Given the description of an element on the screen output the (x, y) to click on. 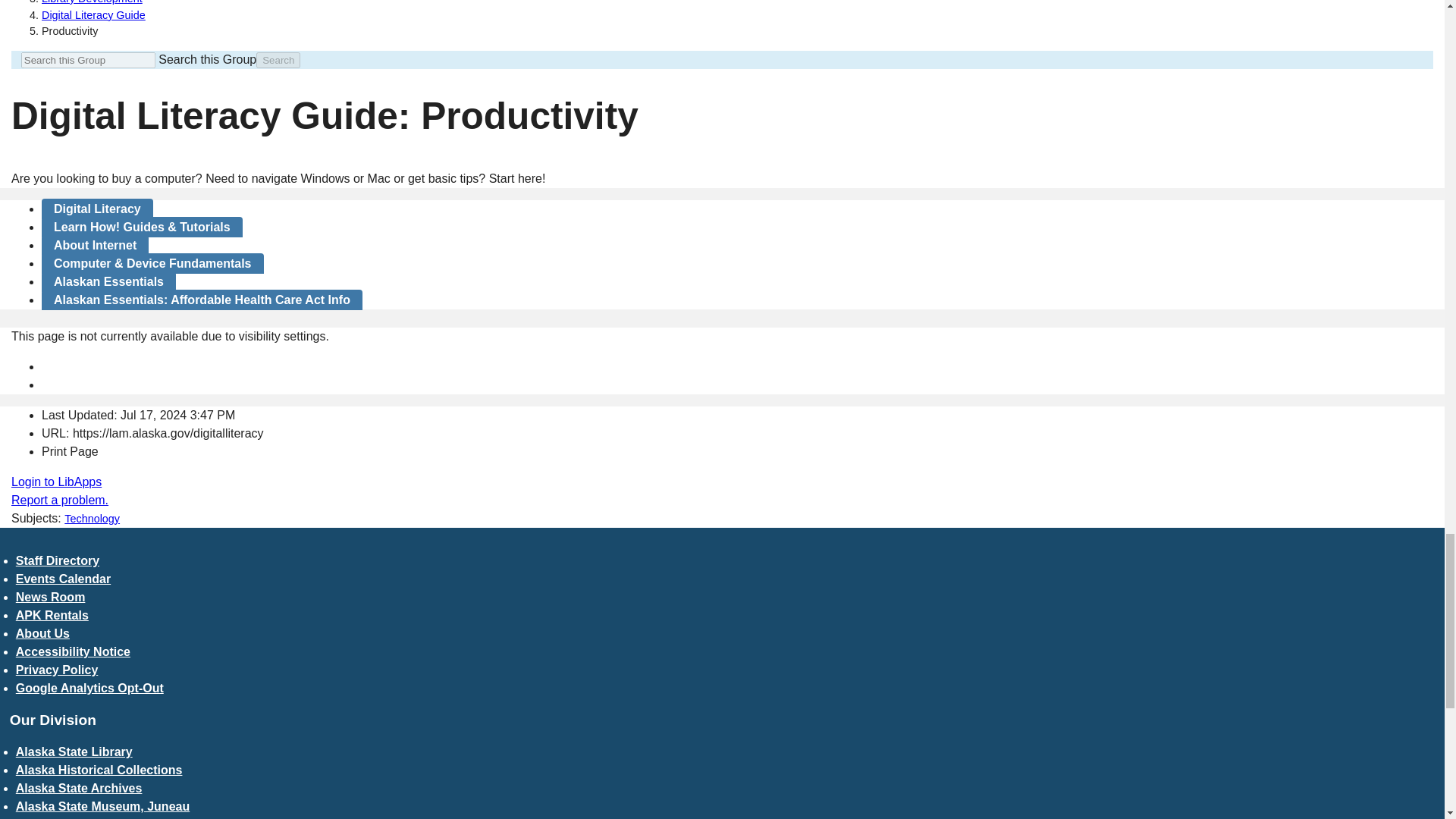
Resources available to obtain health insurance in Alaska. (202, 299)
